Given the description of an element on the screen output the (x, y) to click on. 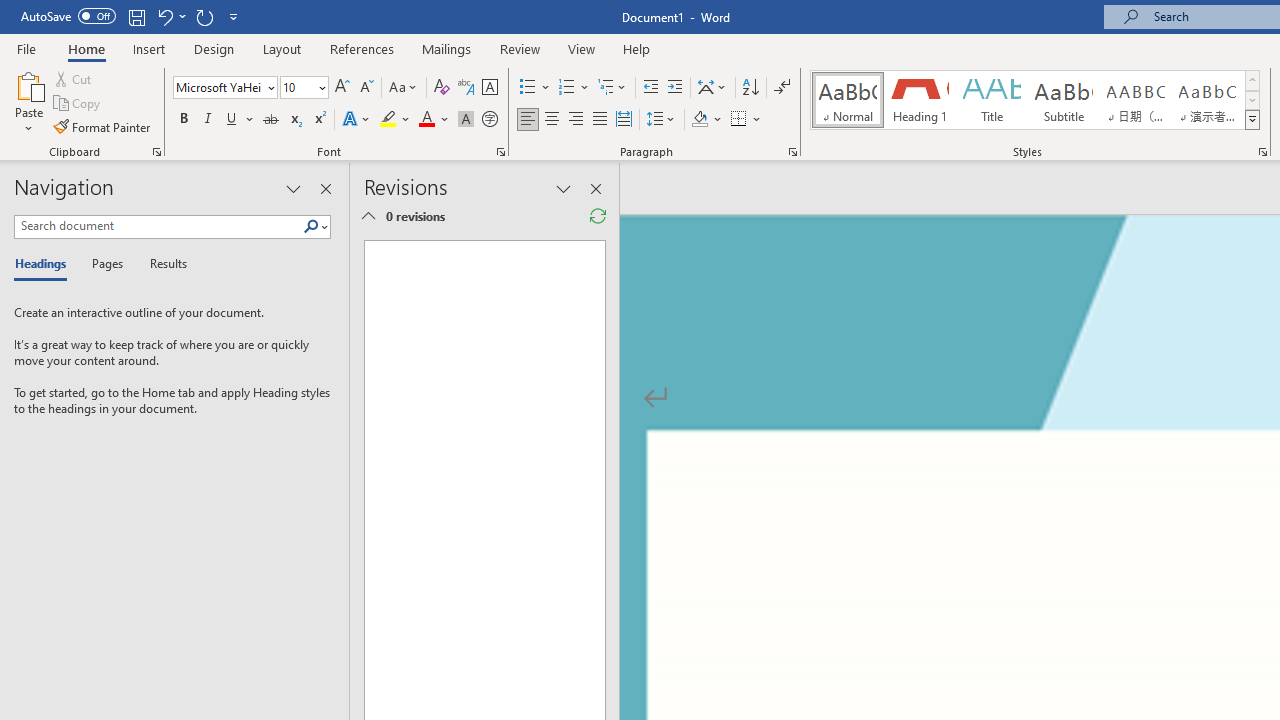
Font Color Red (426, 119)
AutomationID: QuickStylesGallery (1035, 99)
